Given the description of an element on the screen output the (x, y) to click on. 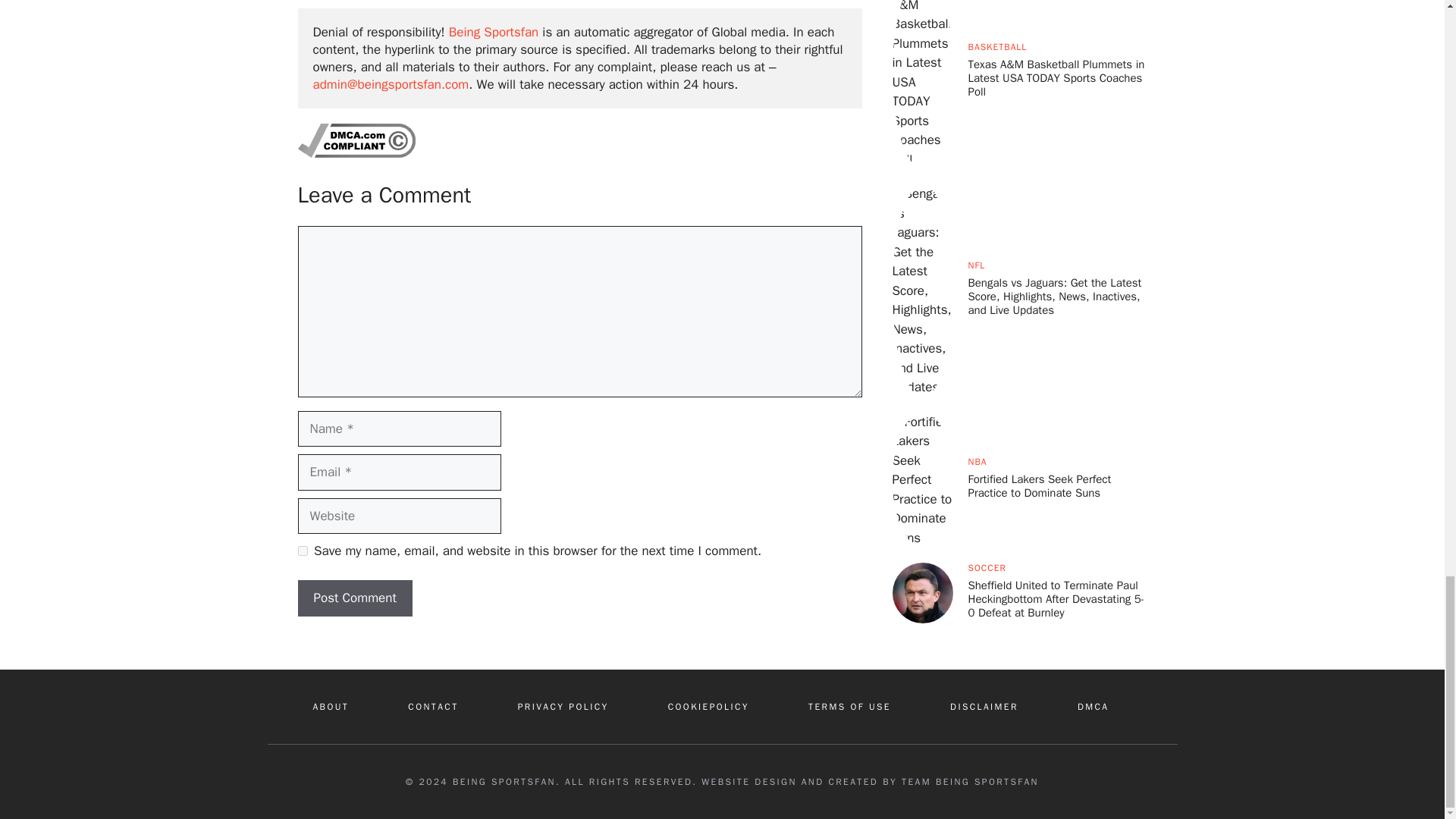
yes (302, 551)
Post Comment (354, 597)
